Given the description of an element on the screen output the (x, y) to click on. 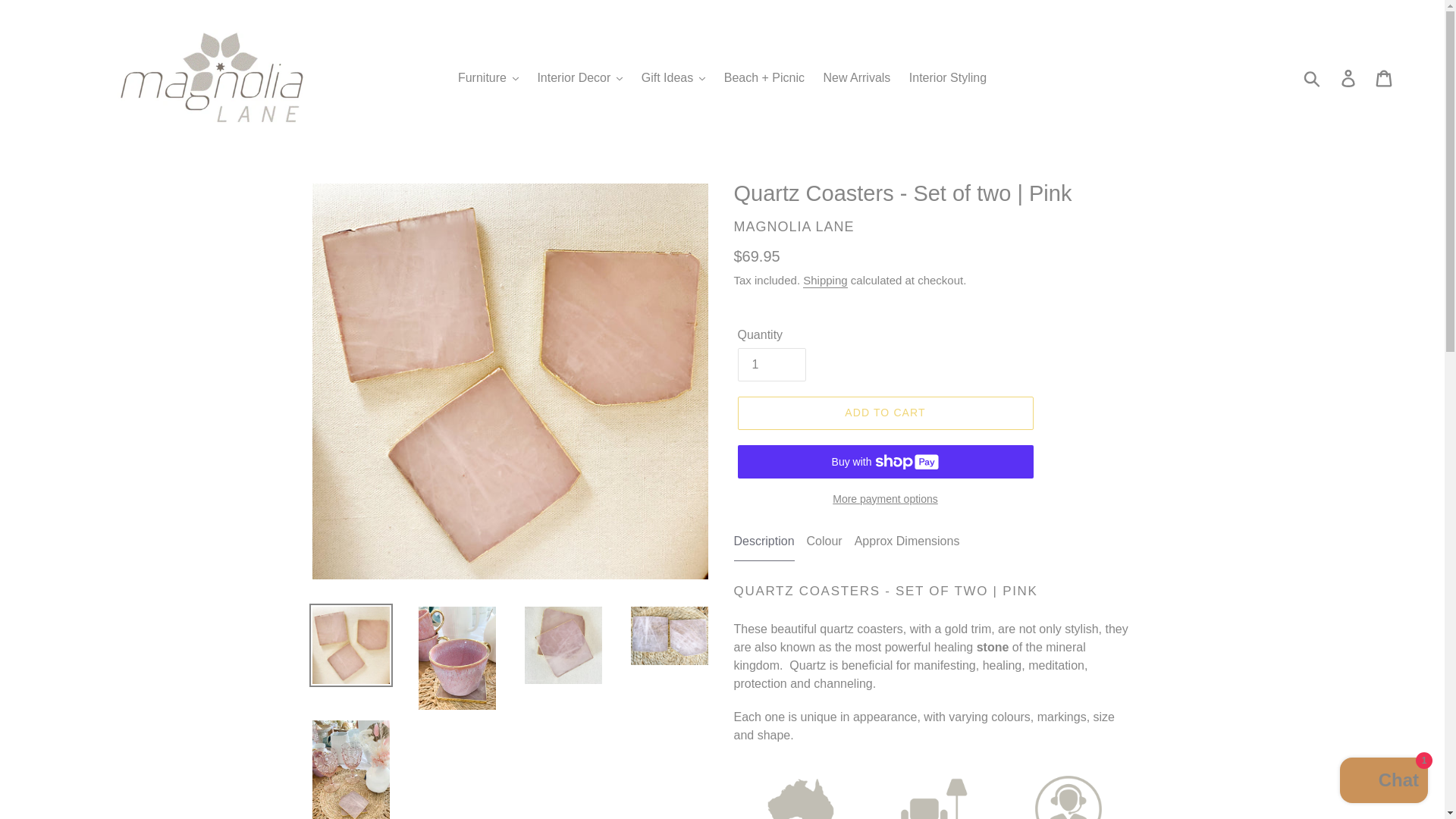
1 (770, 364)
Shopify online store chat (1383, 781)
